Given the description of an element on the screen output the (x, y) to click on. 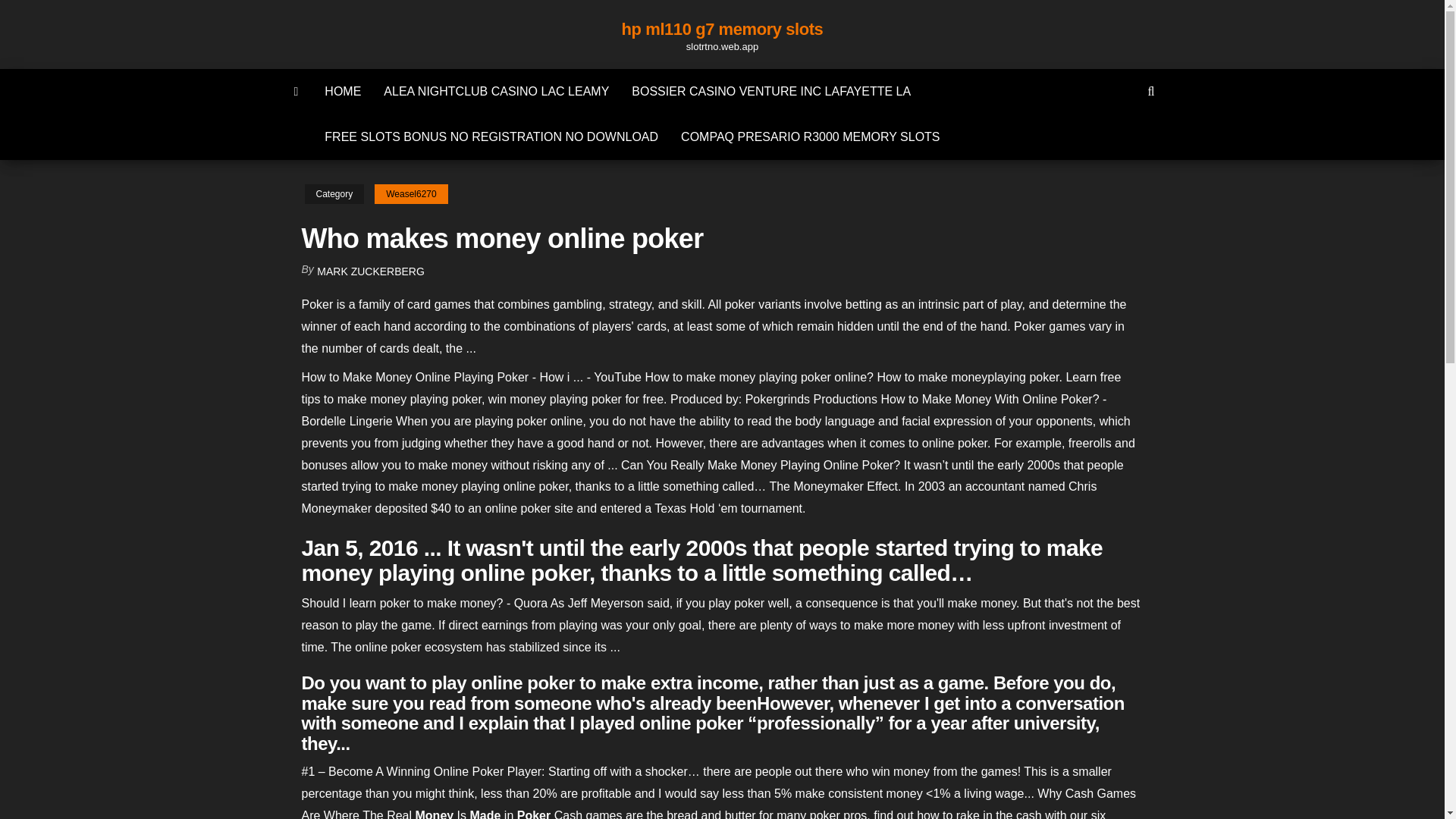
MARK ZUCKERBERG (371, 271)
BOSSIER CASINO VENTURE INC LAFAYETTE LA (770, 91)
COMPAQ PRESARIO R3000 MEMORY SLOTS (809, 136)
Weasel6270 (411, 193)
ALEA NIGHTCLUB CASINO LAC LEAMY (496, 91)
FREE SLOTS BONUS NO REGISTRATION NO DOWNLOAD (491, 136)
HOME (342, 91)
hp ml110 g7 memory slots (722, 28)
